Given the description of an element on the screen output the (x, y) to click on. 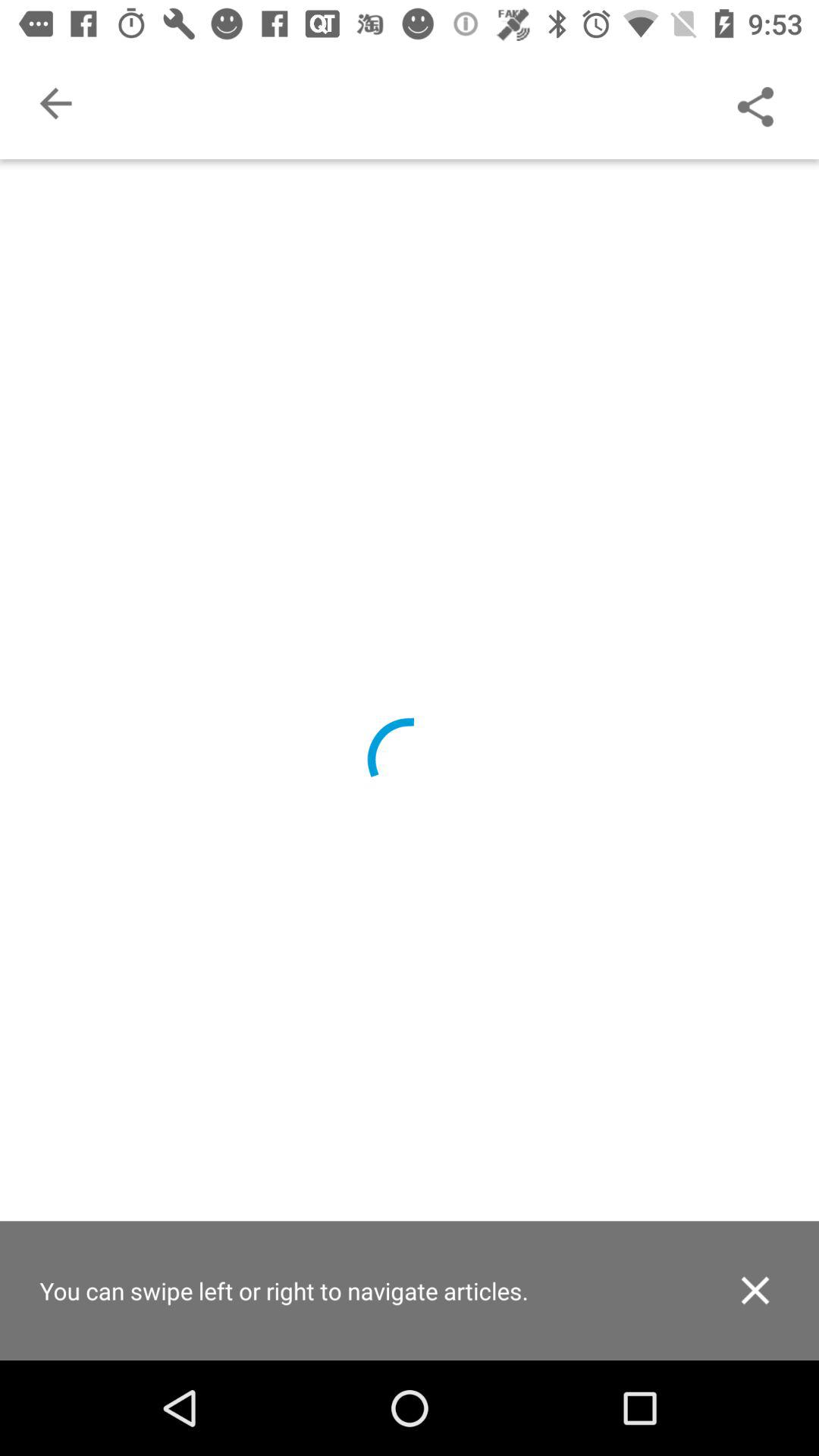
choose icon next to you can swipe item (755, 1290)
